Given the description of an element on the screen output the (x, y) to click on. 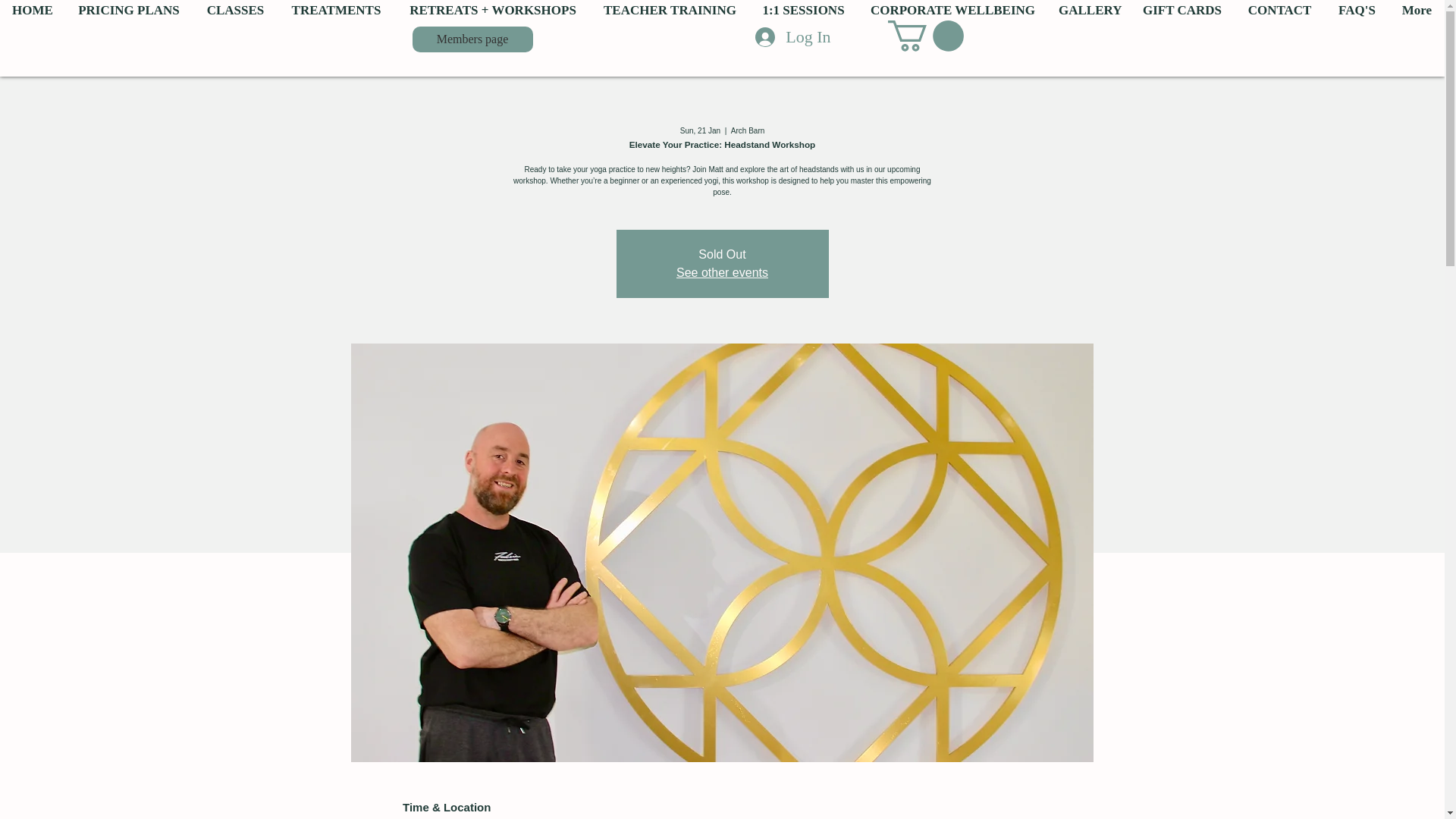
GALLERY (1087, 10)
TREATMENTS (336, 10)
Members page (472, 39)
Log In (792, 36)
CORPORATE WELLBEING (952, 10)
HOME (32, 10)
PRICING PLANS (128, 10)
TEACHER TRAINING (669, 10)
See other events (722, 272)
FAQ'S (1356, 10)
